Given the description of an element on the screen output the (x, y) to click on. 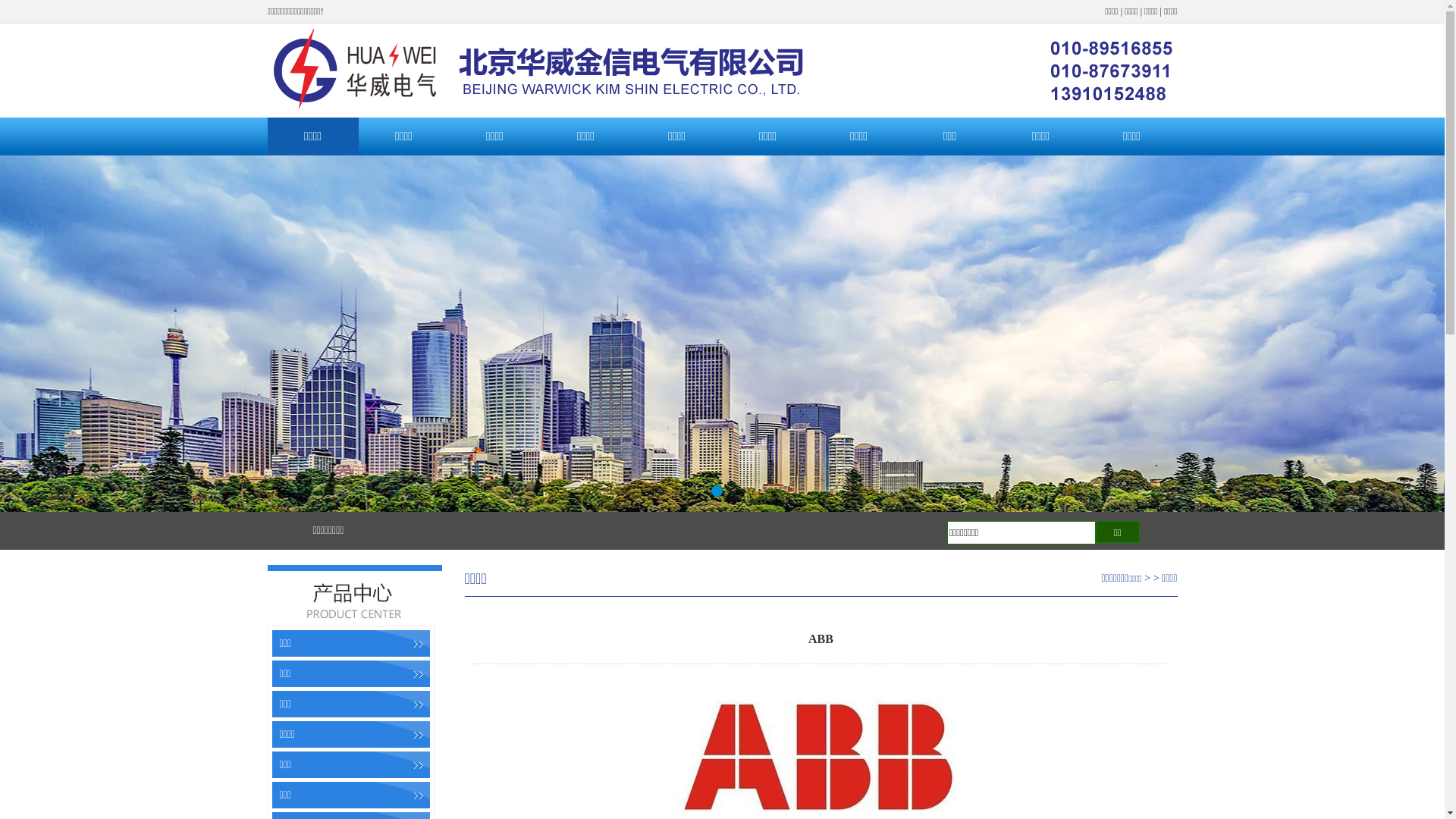
1 Element type: text (716, 490)
